Given the description of an element on the screen output the (x, y) to click on. 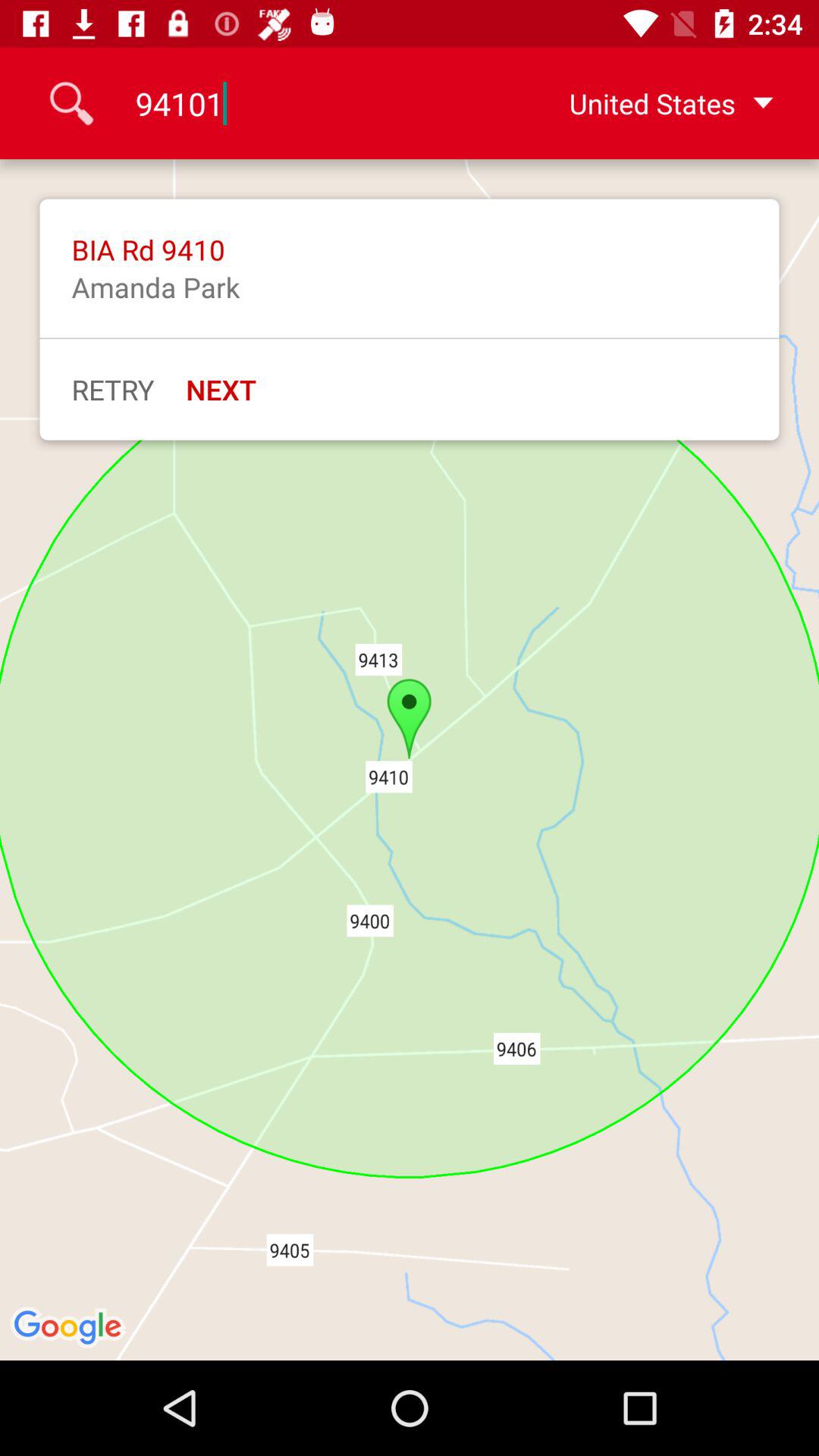
launch item next to retry icon (220, 389)
